Given the description of an element on the screen output the (x, y) to click on. 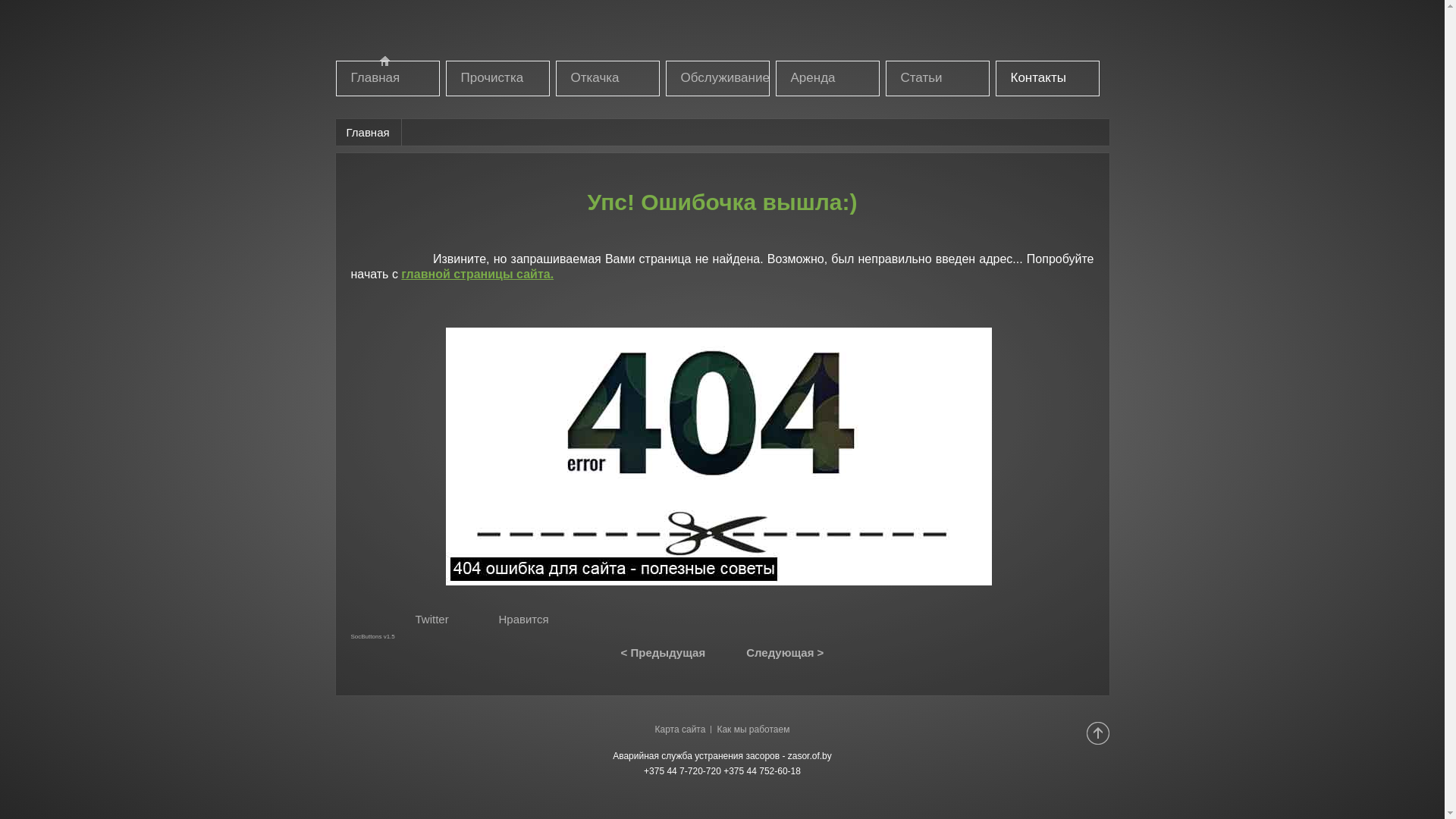
Twitter Element type: text (431, 618)
SocButtons v1.5 Element type: text (372, 636)
